Given the description of an element on the screen output the (x, y) to click on. 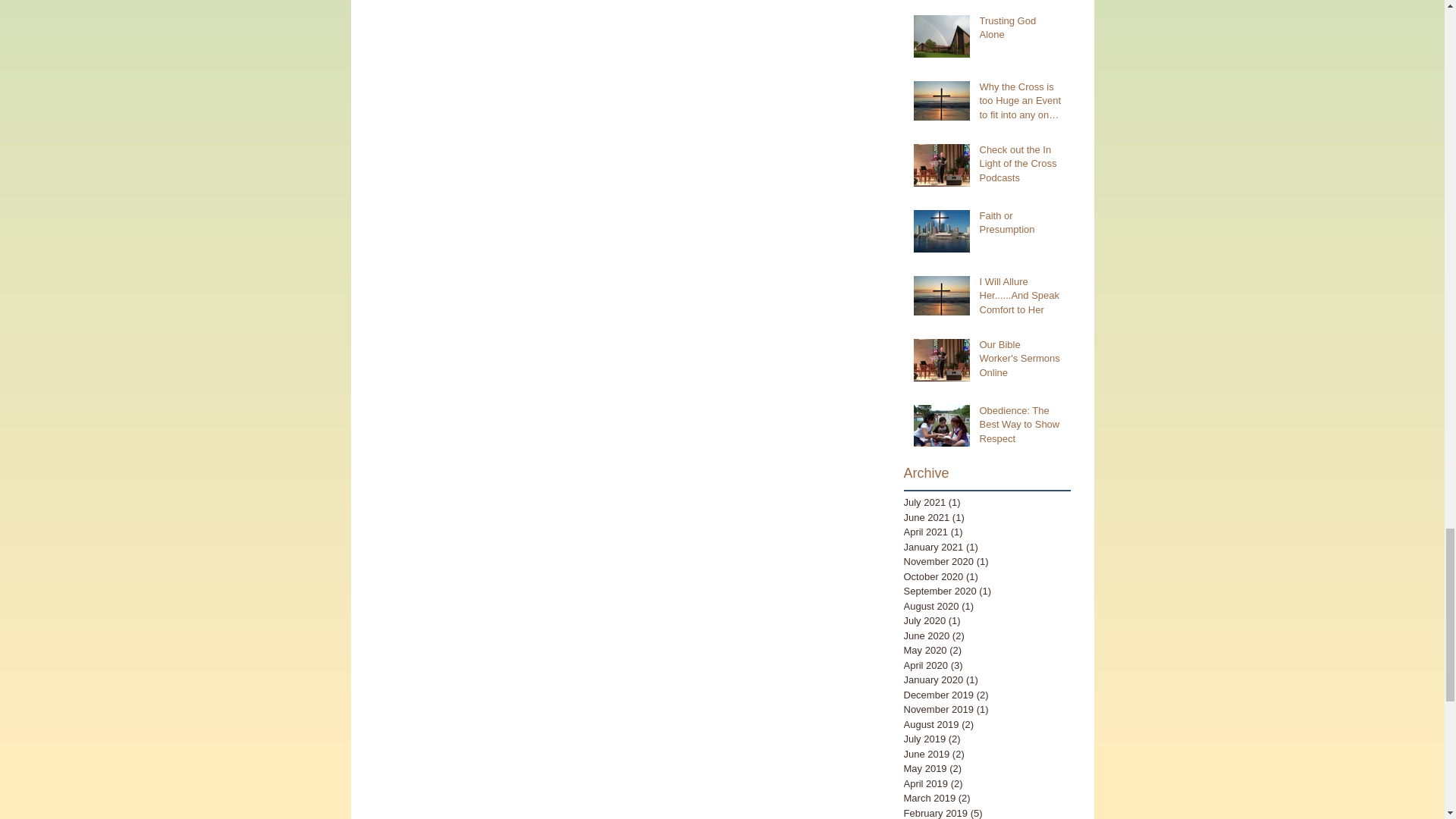
Obedience: The Best Way to Show Respect (1020, 428)
Check out the In Light of the Cross Podcasts (1020, 166)
Our Bible Worker's Sermons Online (1020, 361)
I Will Allure Her......And Speak Comfort to Her (1020, 298)
Trusting God Alone (1020, 30)
Faith or Presumption (1020, 225)
